Given the description of an element on the screen output the (x, y) to click on. 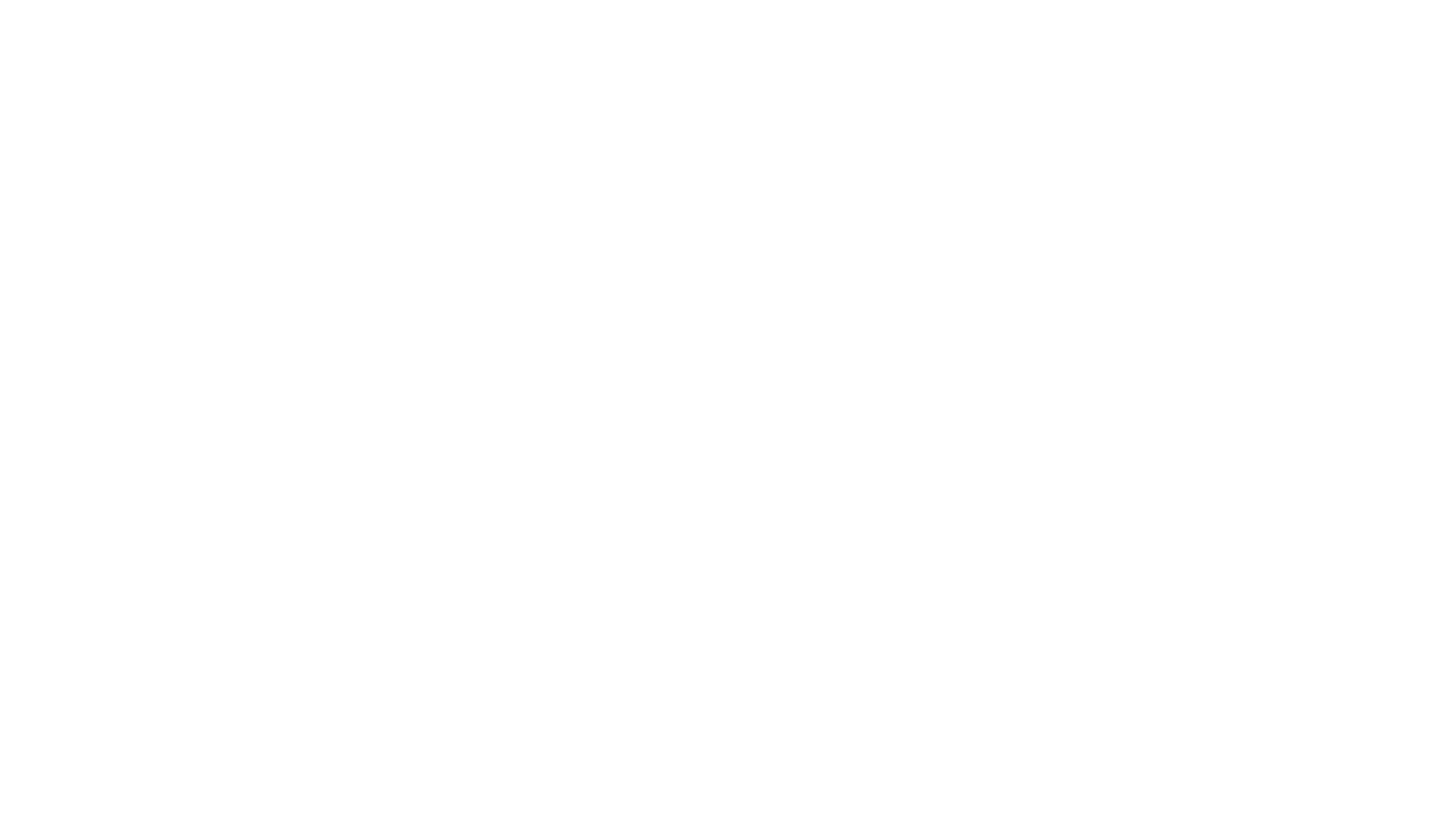
Cloudflare Element type: text (798, 799)
